Given the description of an element on the screen output the (x, y) to click on. 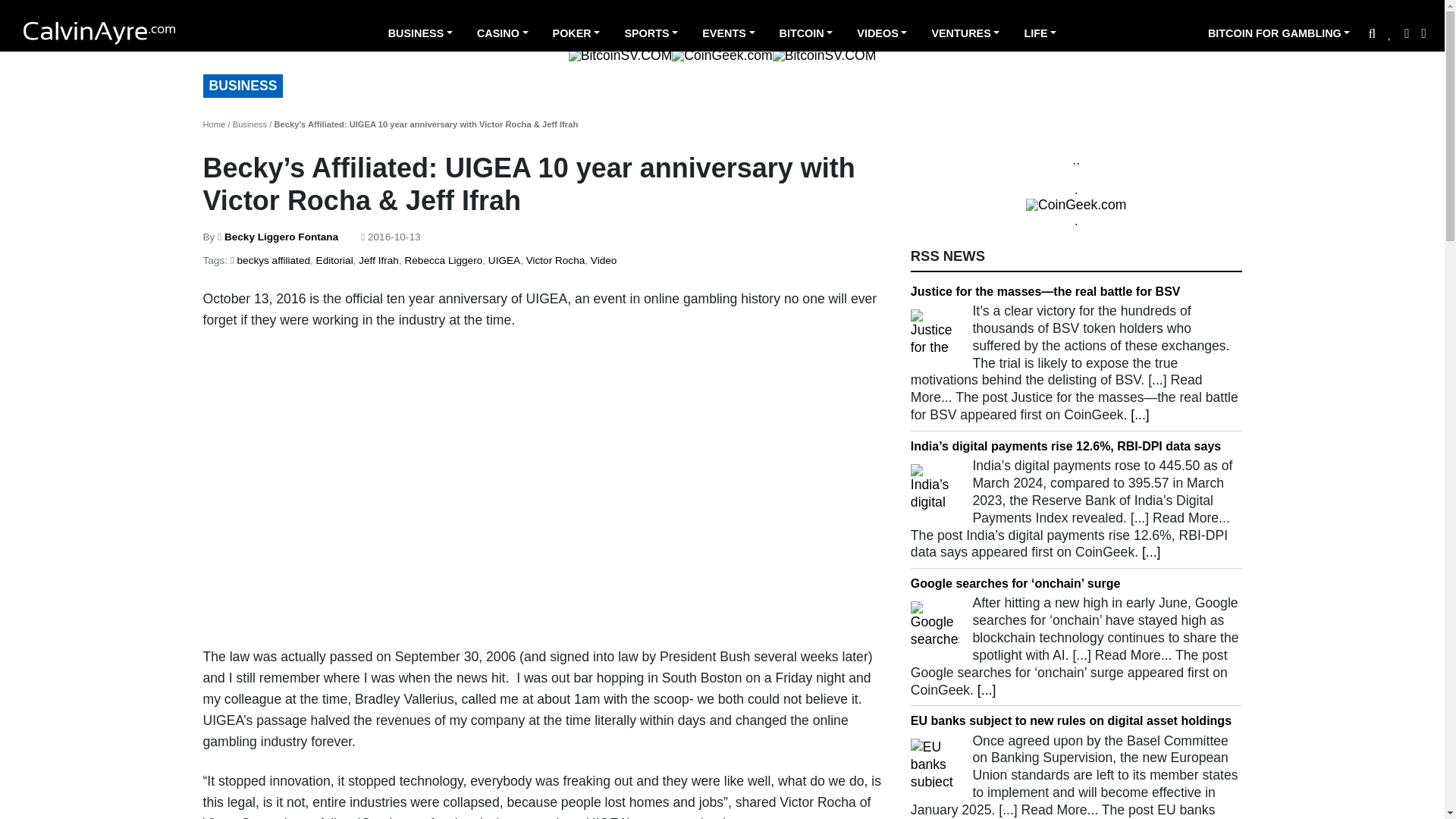
BitcoinSV.COM (620, 56)
CalvinAyre.com (98, 33)
Life (1039, 35)
Bitcoin for Gambling (1278, 35)
VIDEOS (881, 35)
LIFE (1039, 35)
Events (728, 35)
BUSINESS (419, 35)
Casino (502, 35)
SPORTS (650, 35)
Business (419, 35)
Videos (881, 35)
Bitcoin (806, 35)
CASINO (502, 35)
Ventures (964, 35)
